Given the description of an element on the screen output the (x, y) to click on. 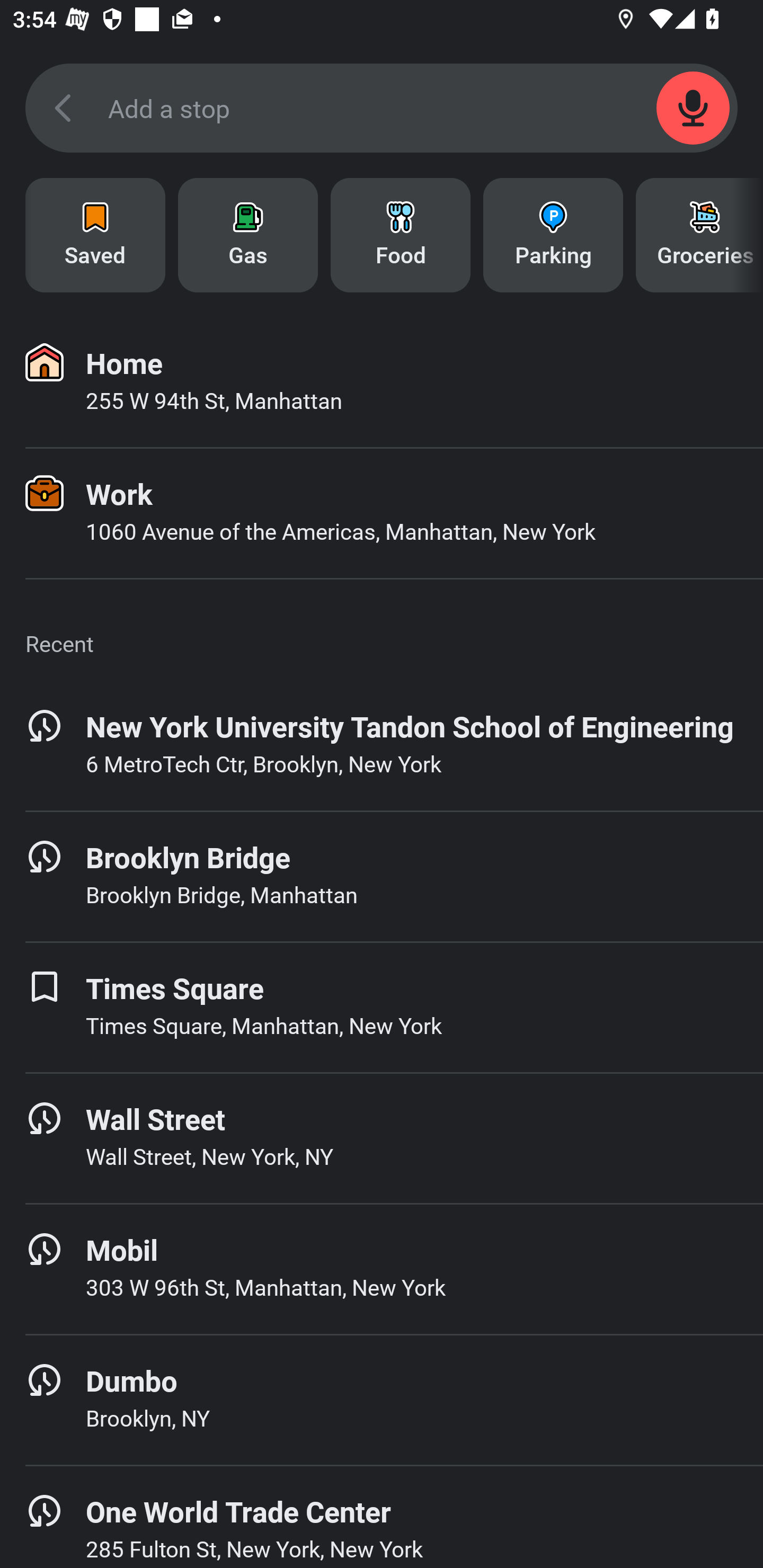
SEARCH_SCREEN_SEARCH_FIELD Add a stop (381, 108)
Saved (95, 234)
Gas (247, 234)
Food (400, 234)
Parking (552, 234)
Groceries (699, 234)
Home 255 W 94th St, Manhattan (381, 382)
Brooklyn Bridge Brooklyn Bridge, Manhattan (381, 876)
Times Square Times Square, Manhattan, New York (381, 1007)
Wall Street Wall Street, New York, NY (381, 1138)
Mobil 303 W 96th St, Manhattan, New York (381, 1269)
Dumbo Brooklyn, NY (381, 1399)
